Given the description of an element on the screen output the (x, y) to click on. 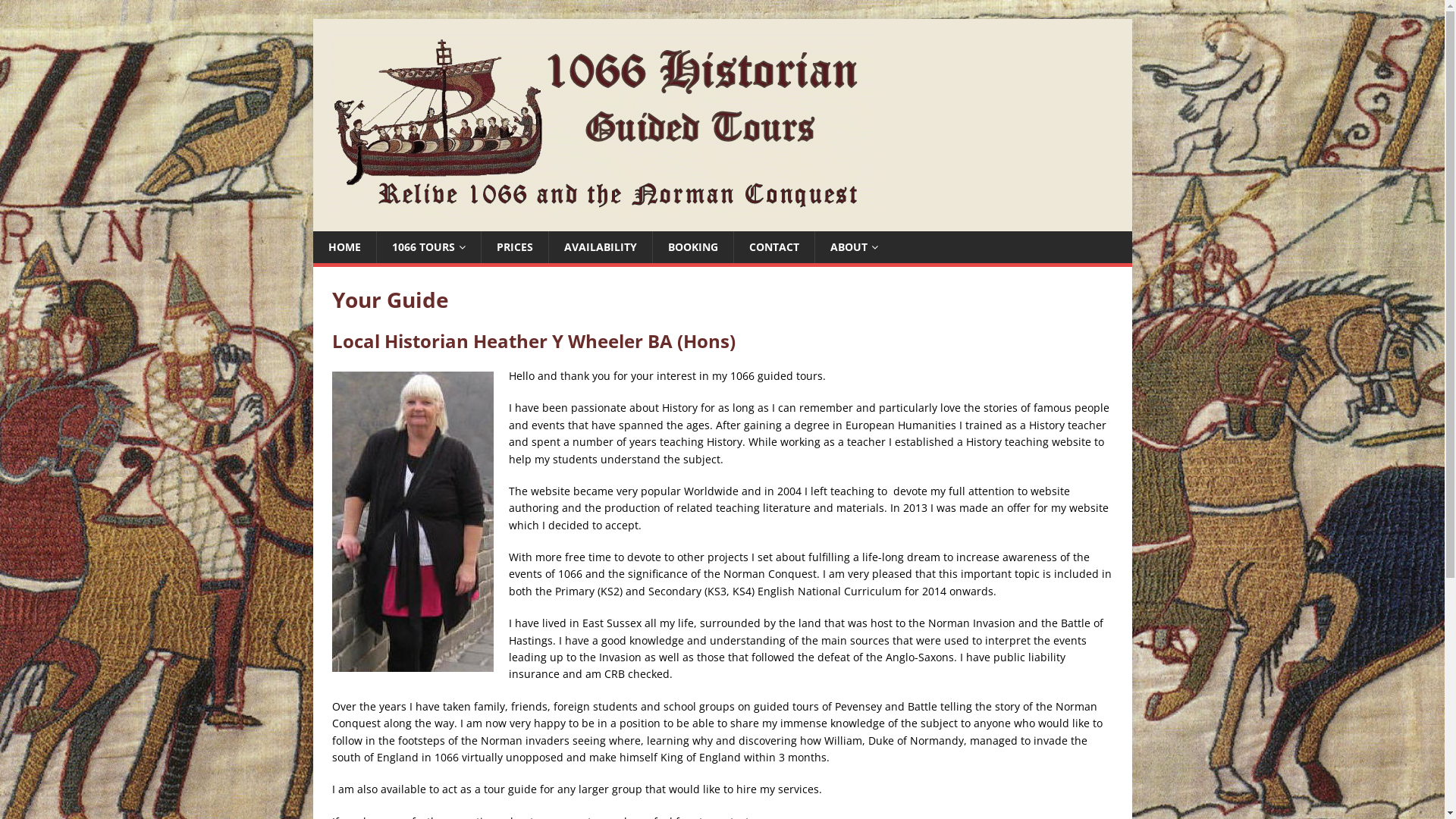
PRICES Element type: text (514, 247)
BOOKING Element type: text (692, 247)
AVAILABILITY Element type: text (599, 247)
HOME Element type: text (343, 247)
1066 TOURS Element type: text (428, 247)
CONTACT Element type: text (772, 247)
ABOUT Element type: text (853, 247)
